Given the description of an element on the screen output the (x, y) to click on. 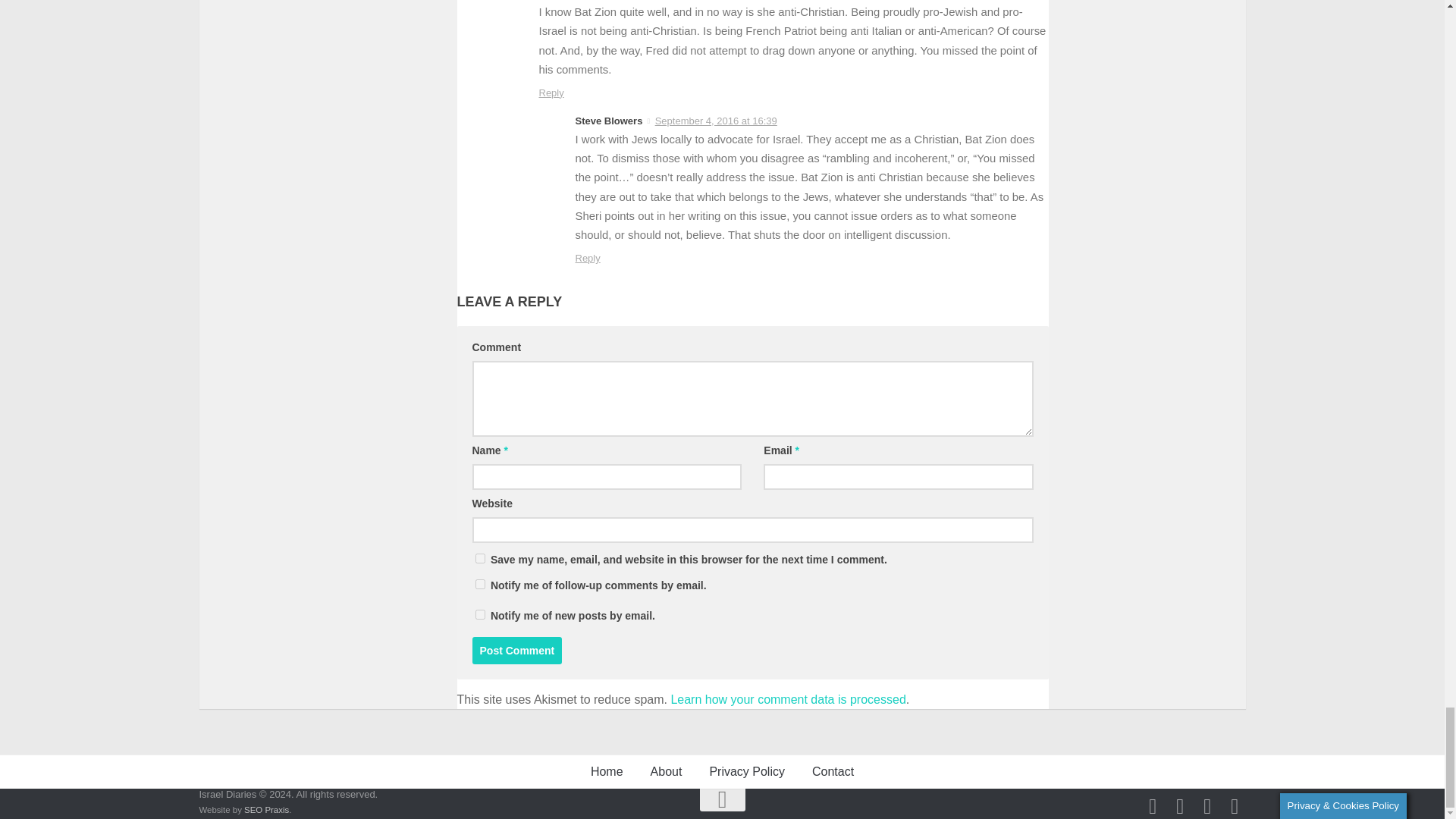
yes (479, 558)
subscribe (479, 583)
Post Comment (516, 650)
subscribe (479, 614)
